Given the description of an element on the screen output the (x, y) to click on. 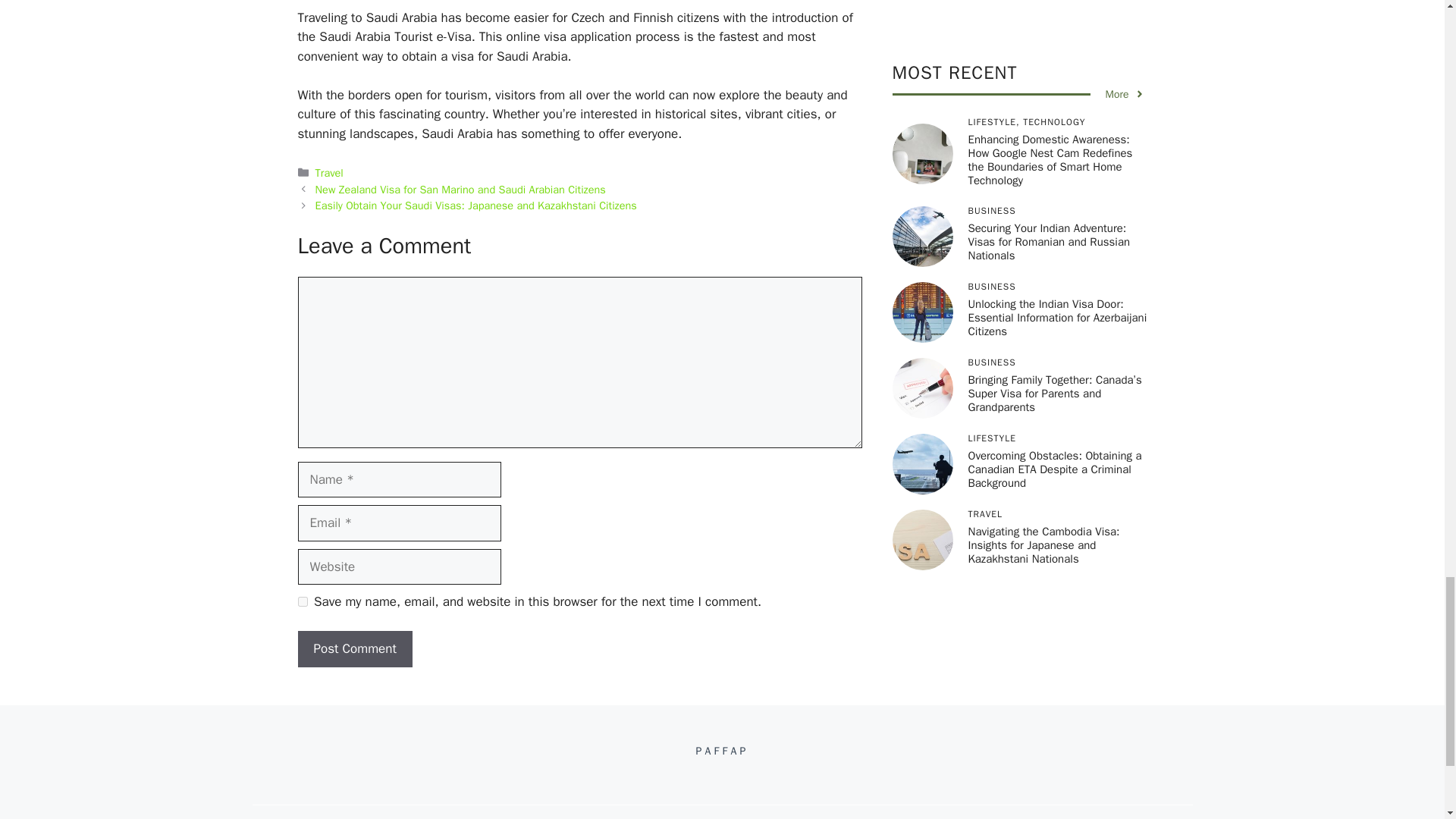
yes (302, 601)
Post Comment (354, 648)
Travel (329, 172)
Post Comment (354, 648)
New Zealand Visa for San Marino and Saudi Arabian Citizens (460, 189)
